Given the description of an element on the screen output the (x, y) to click on. 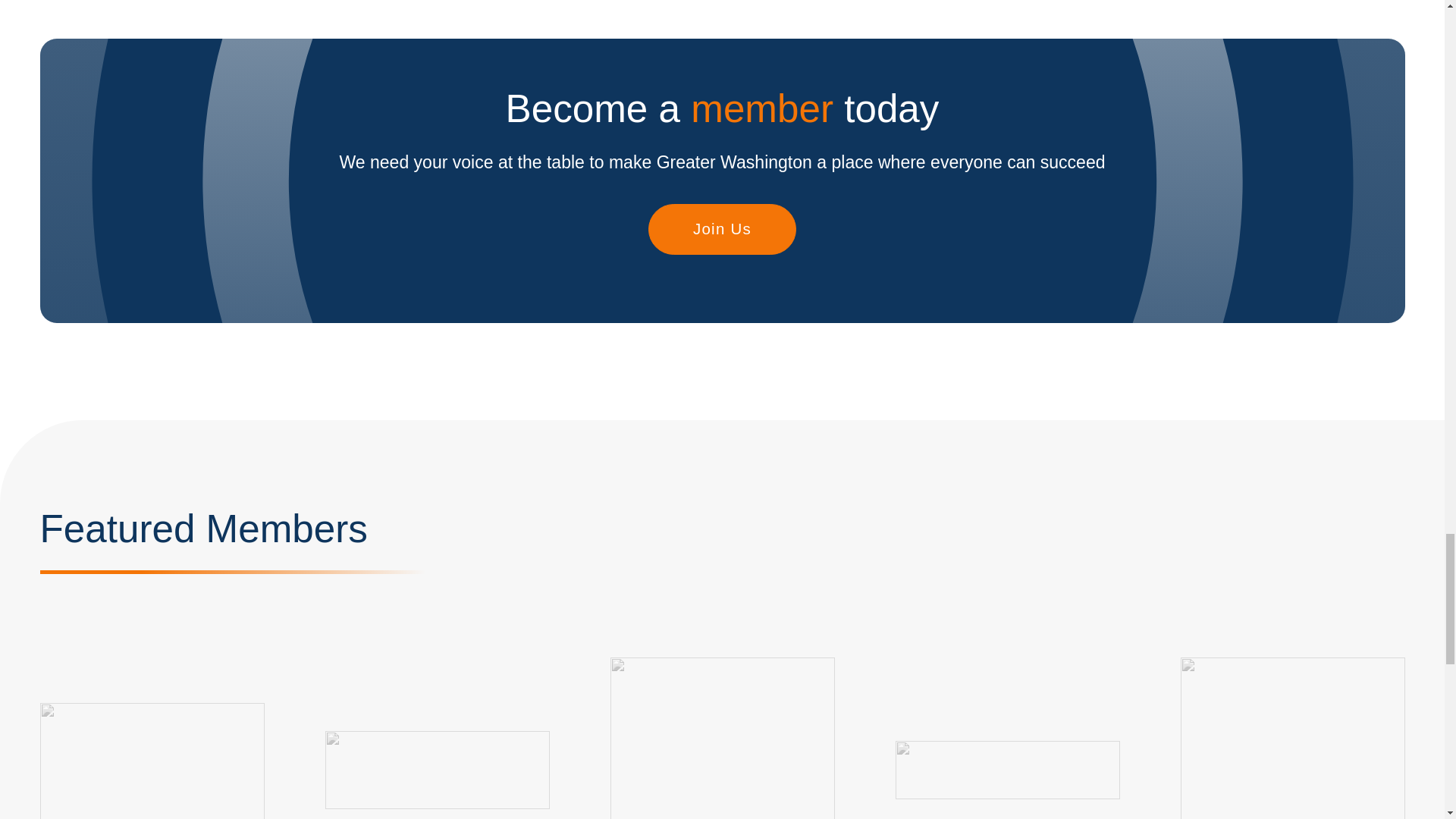
Join Us (720, 228)
